Given the description of an element on the screen output the (x, y) to click on. 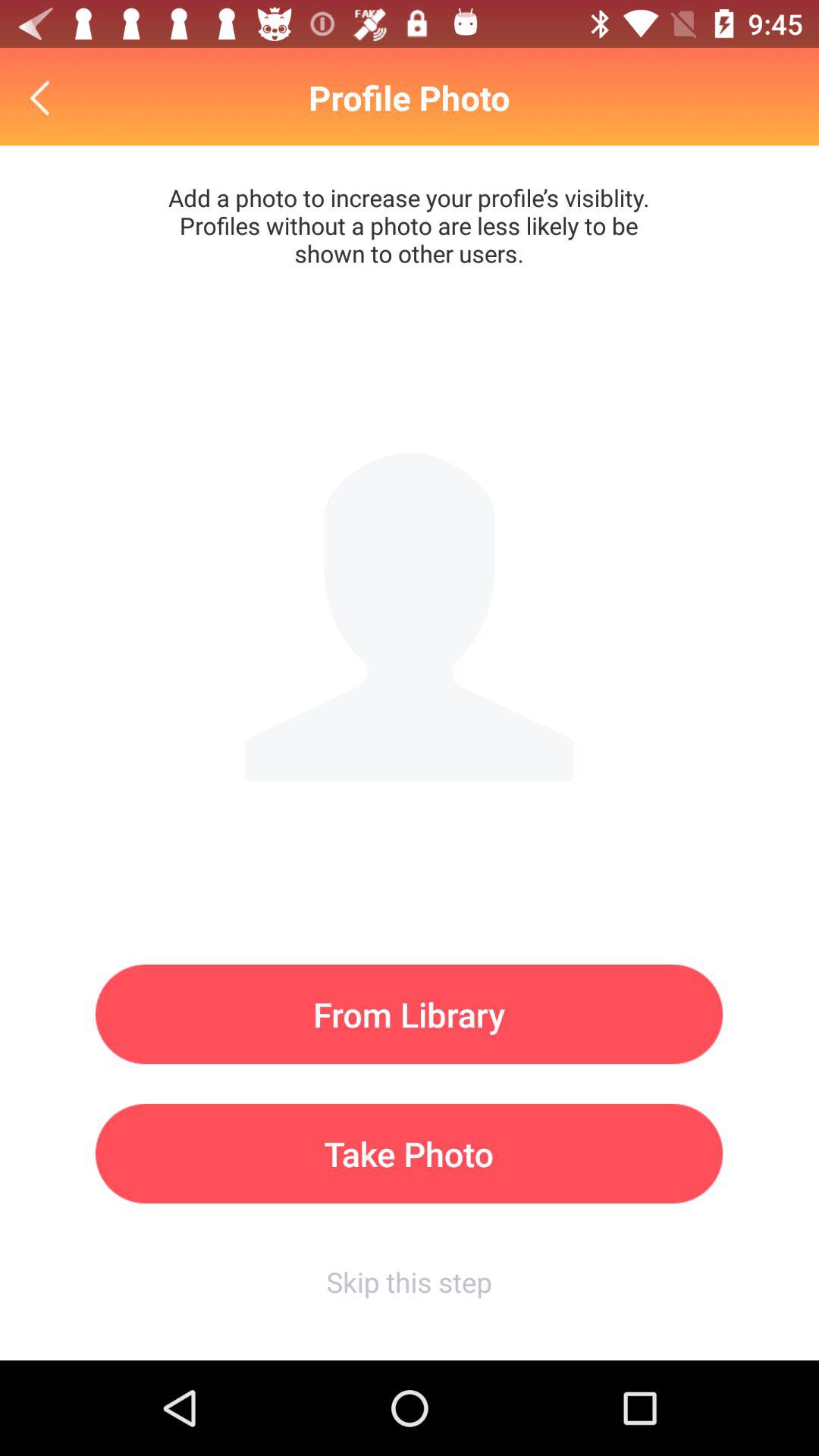
go back (43, 97)
